Given the description of an element on the screen output the (x, y) to click on. 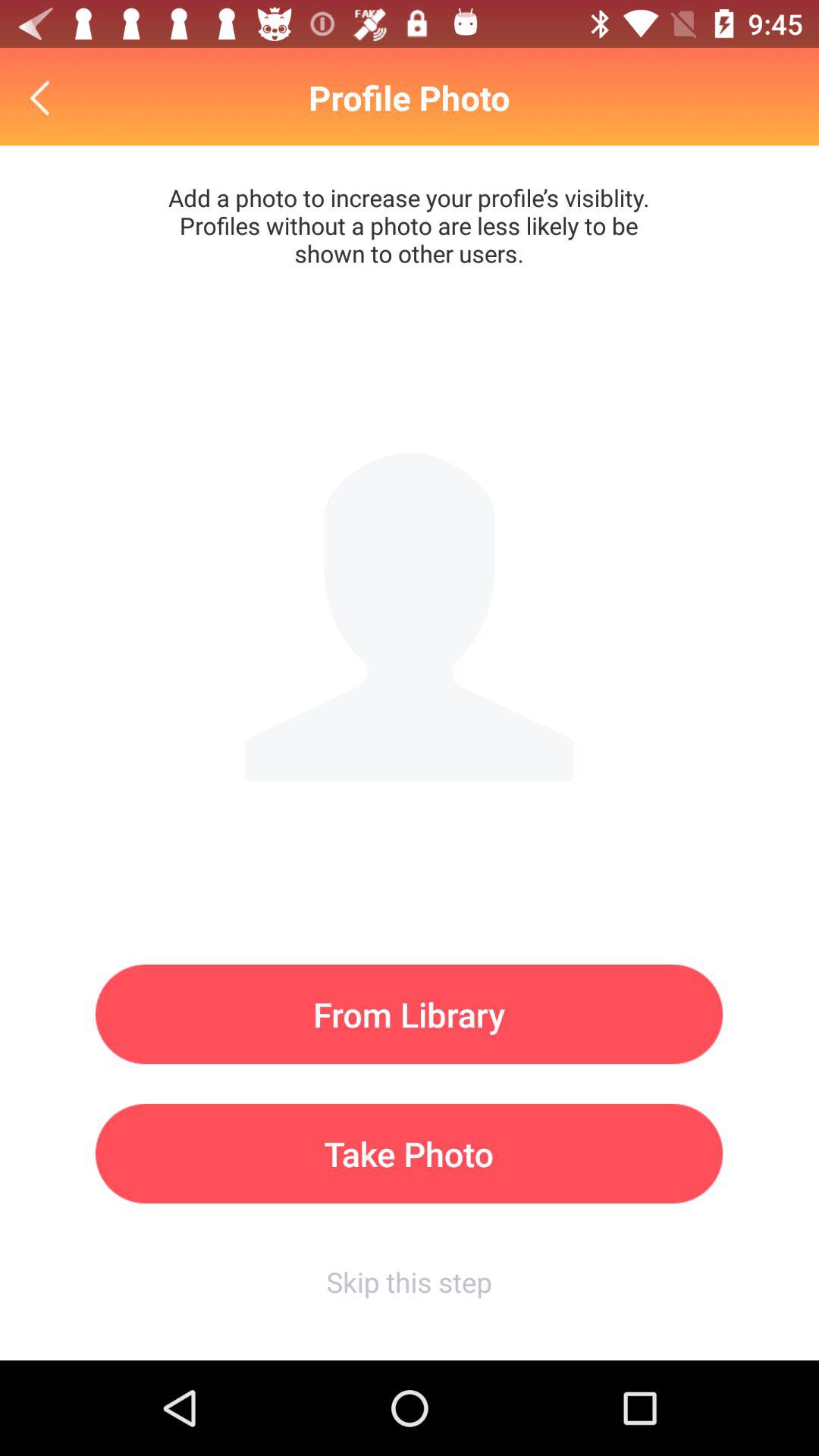
go back (43, 97)
